Given the description of an element on the screen output the (x, y) to click on. 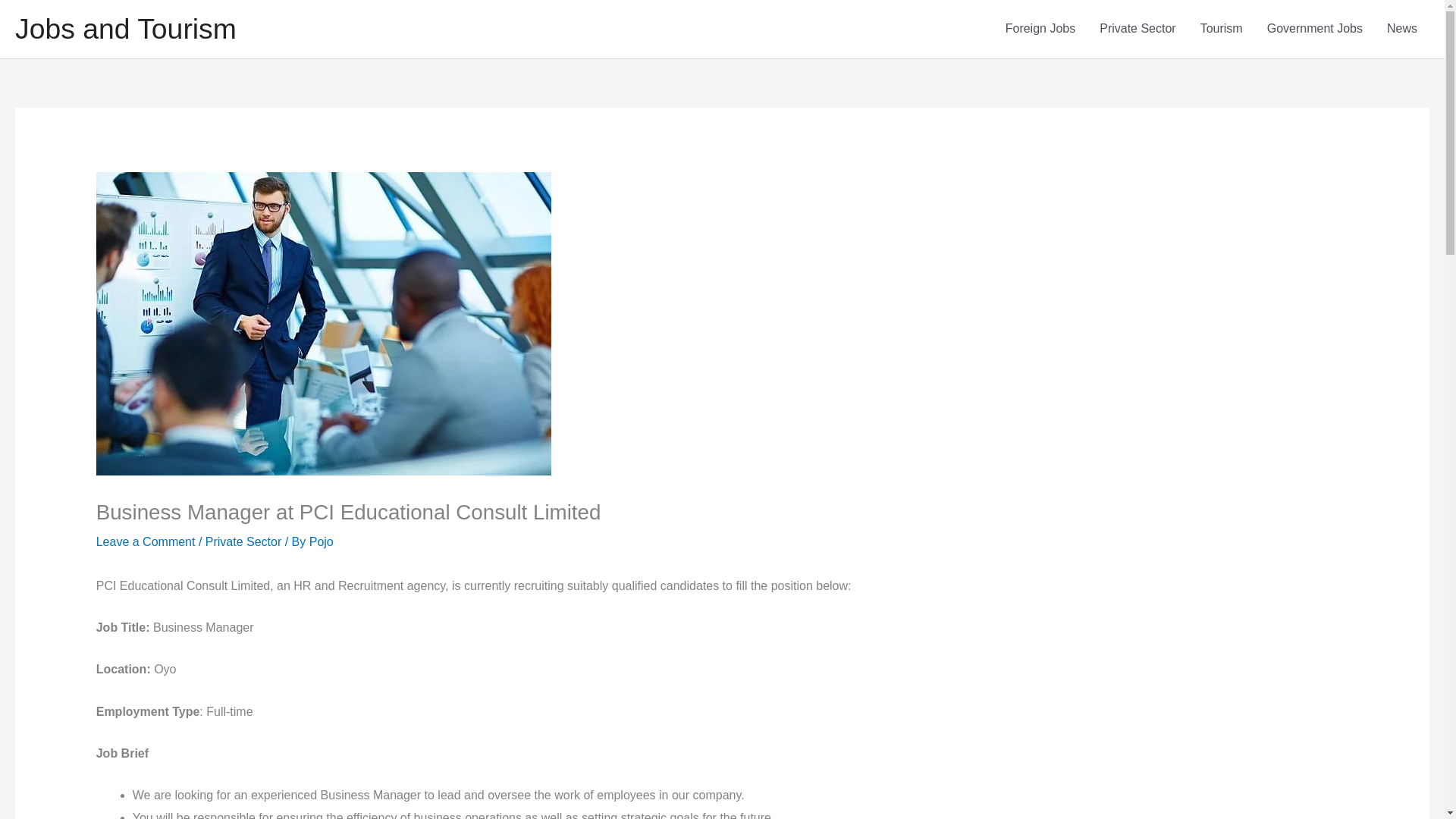
Leave a Comment (145, 541)
Government Jobs (1314, 29)
Tourism (1221, 29)
Private Sector (1137, 29)
View all posts by Pojo (320, 541)
Pojo (320, 541)
Jobs and Tourism (124, 29)
Private Sector (243, 541)
News (1401, 29)
Foreign Jobs (1039, 29)
